Given the description of an element on the screen output the (x, y) to click on. 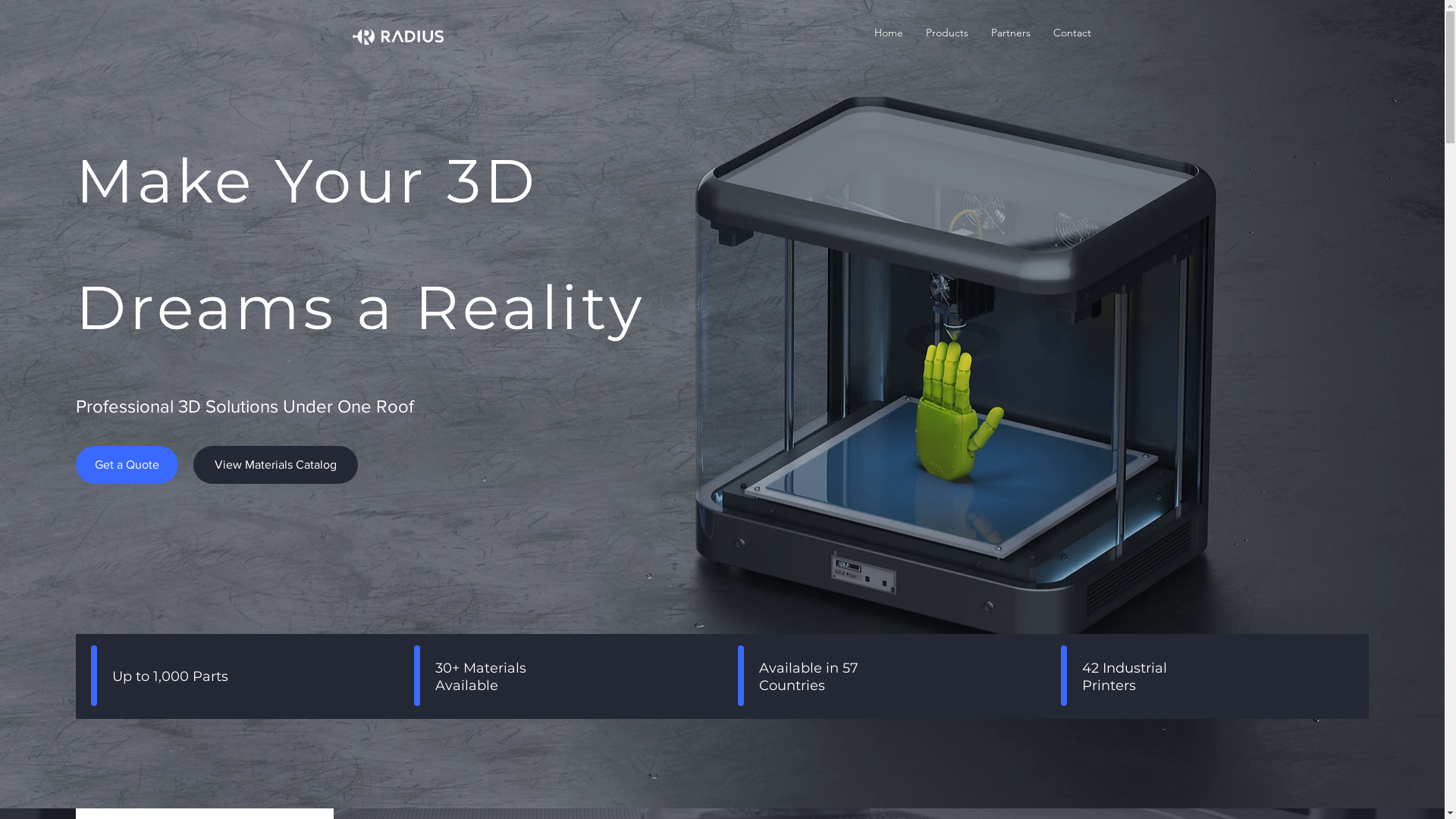
Partners Element type: text (1010, 32)
Products Element type: text (946, 32)
Get a Quote Element type: text (126, 464)
radius yaz_ beyaz.png Element type: hover (411, 36)
Contact Element type: text (1071, 32)
logo beyaz.png Element type: hover (362, 36)
View Materials Catalog Element type: text (275, 464)
Home Element type: text (888, 32)
